Given the description of an element on the screen output the (x, y) to click on. 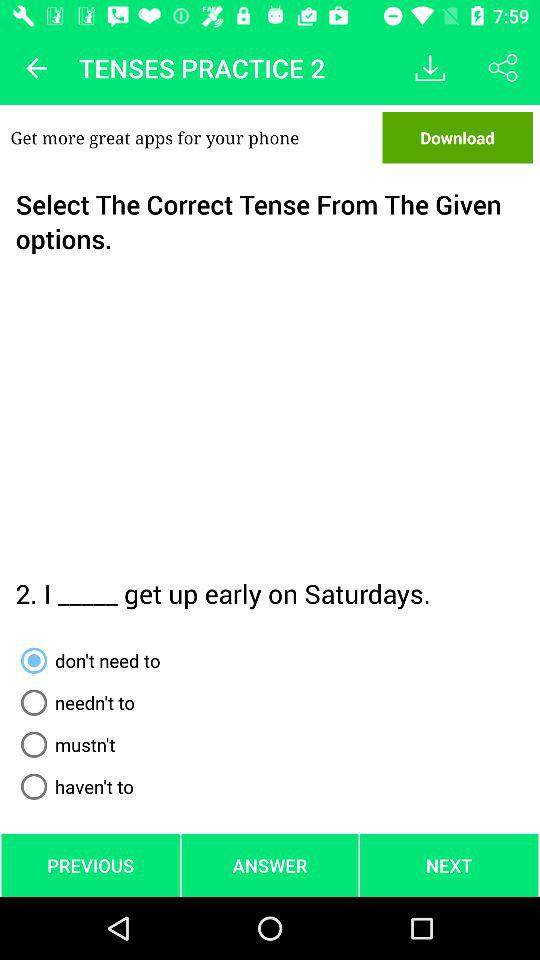
back button (36, 68)
